Given the description of an element on the screen output the (x, y) to click on. 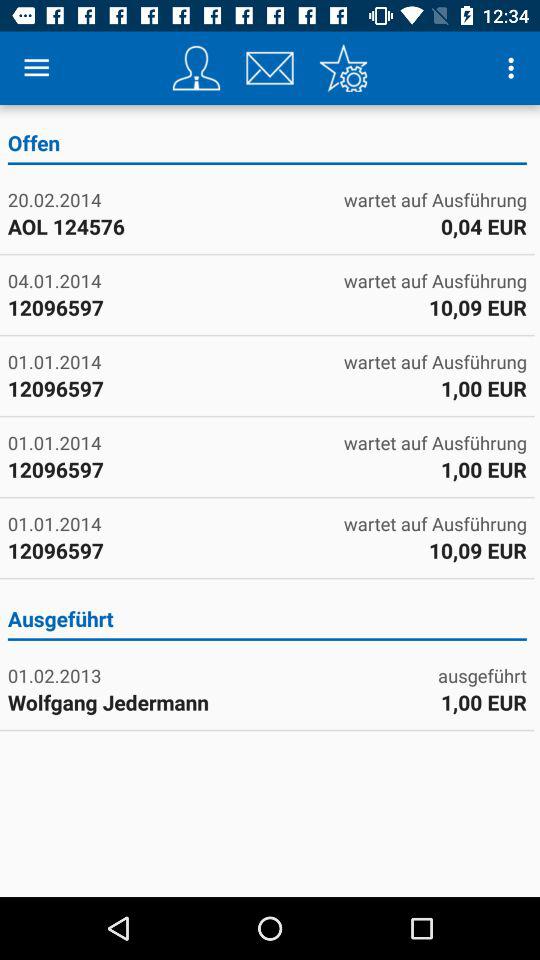
open favorites settings (343, 67)
